Given the description of an element on the screen output the (x, y) to click on. 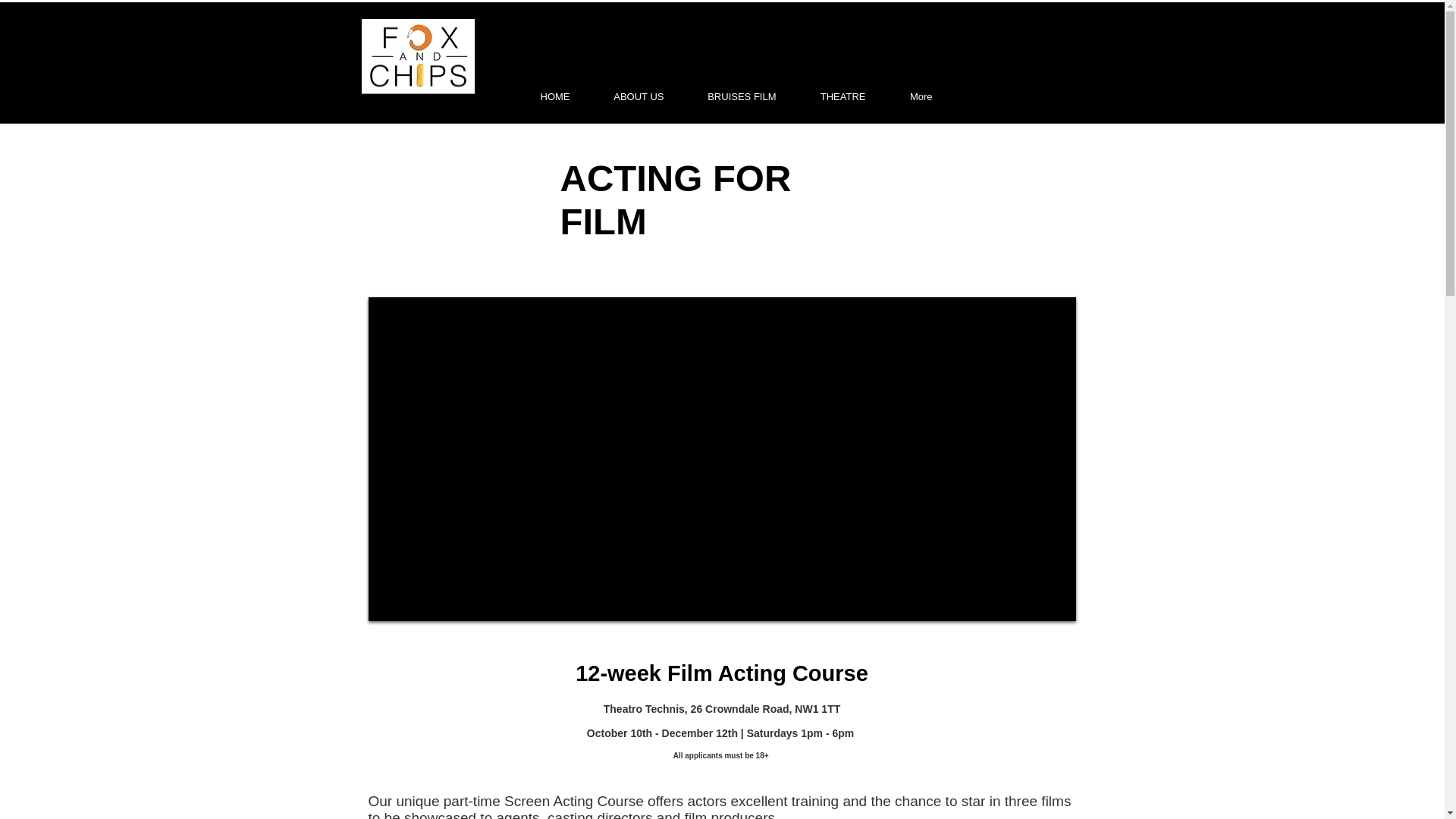
ABOUT US (624, 96)
THEATRE (828, 96)
BRUISES FILM (727, 96)
Fox and Chips Logo.001.jpg (417, 56)
HOME (540, 96)
